Given the description of an element on the screen output the (x, y) to click on. 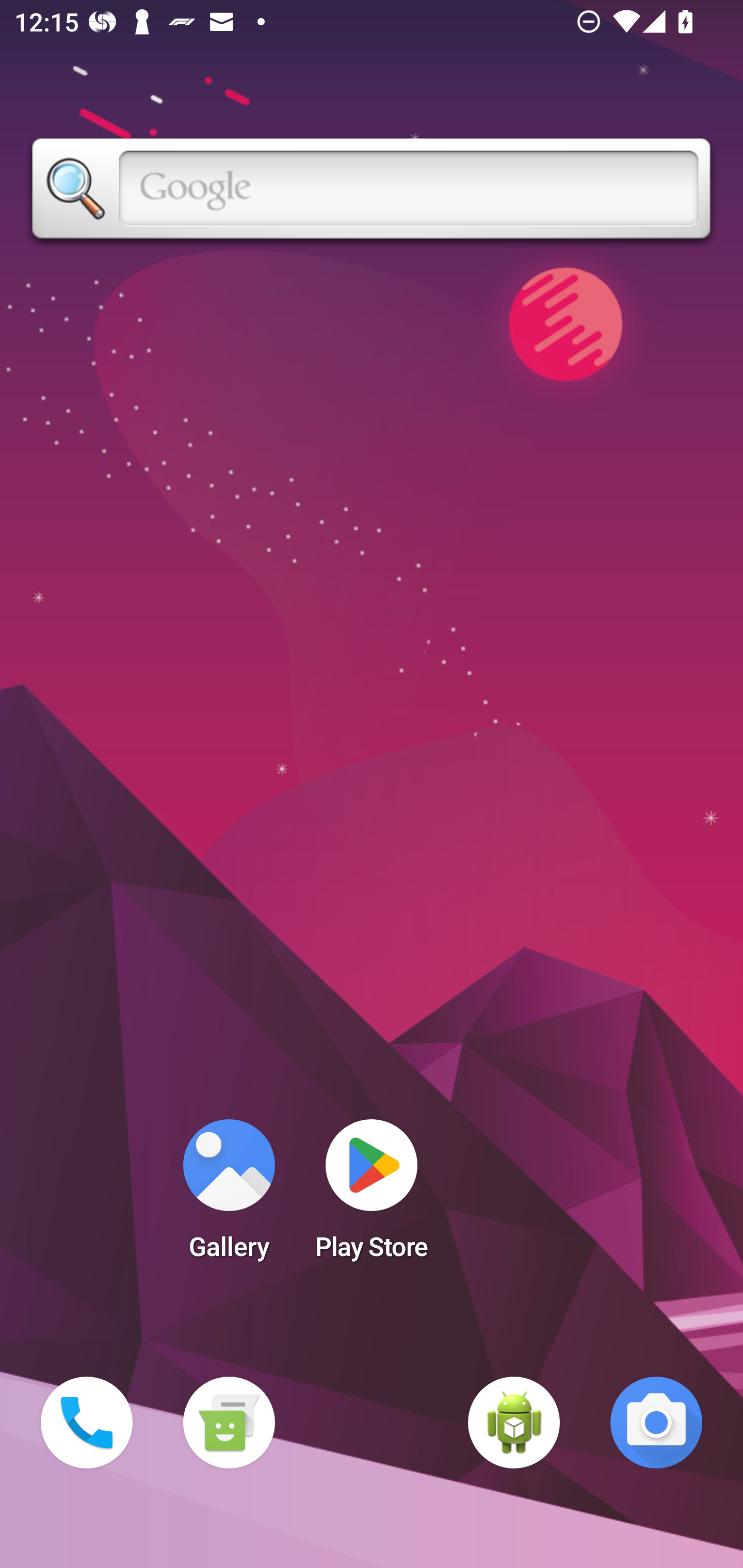
Gallery (228, 1195)
Play Store (371, 1195)
Phone (86, 1422)
Messaging (228, 1422)
WebView Browser Tester (513, 1422)
Camera (656, 1422)
